Given the description of an element on the screen output the (x, y) to click on. 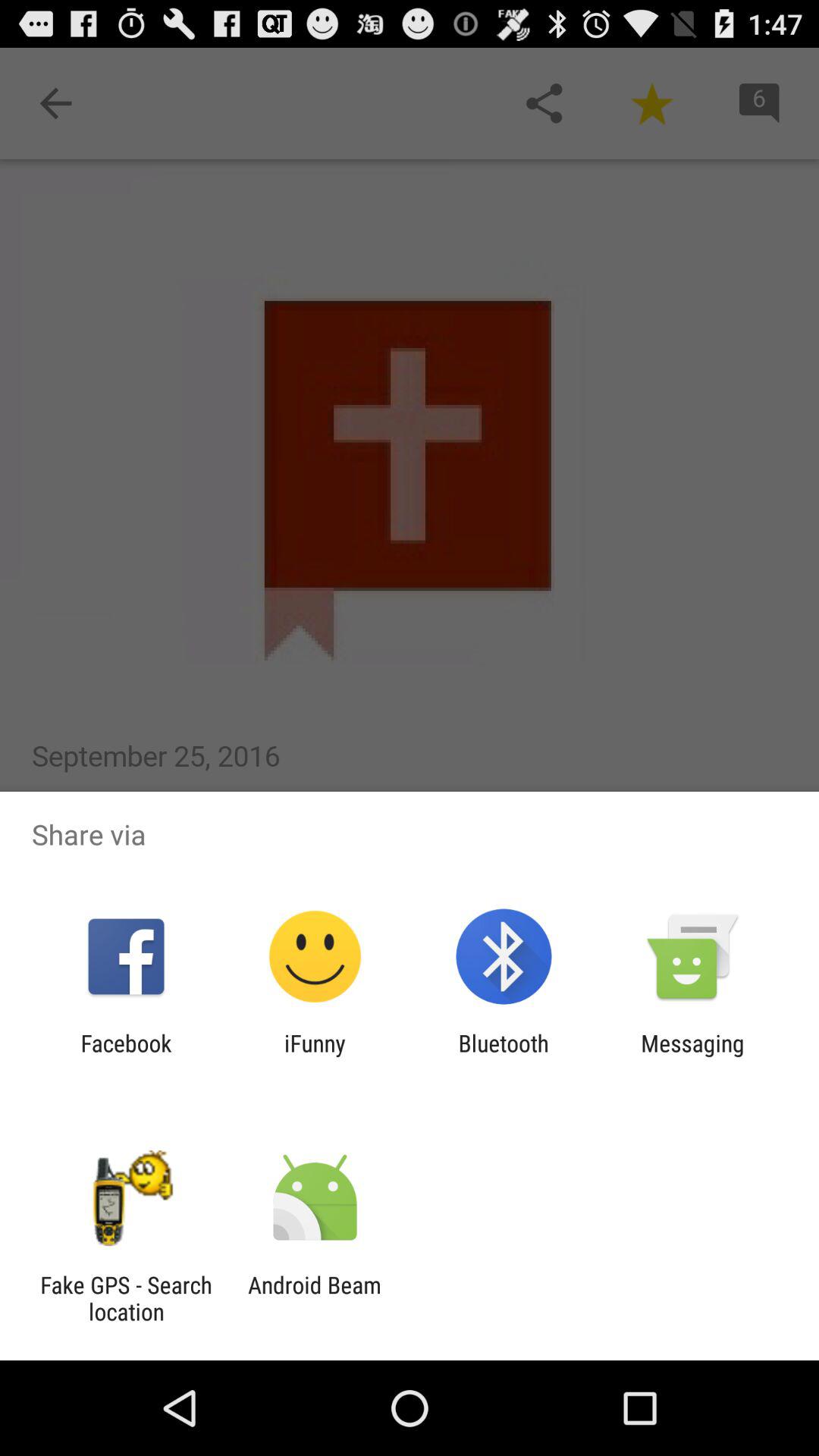
swipe until the ifunny app (314, 1056)
